Given the description of an element on the screen output the (x, y) to click on. 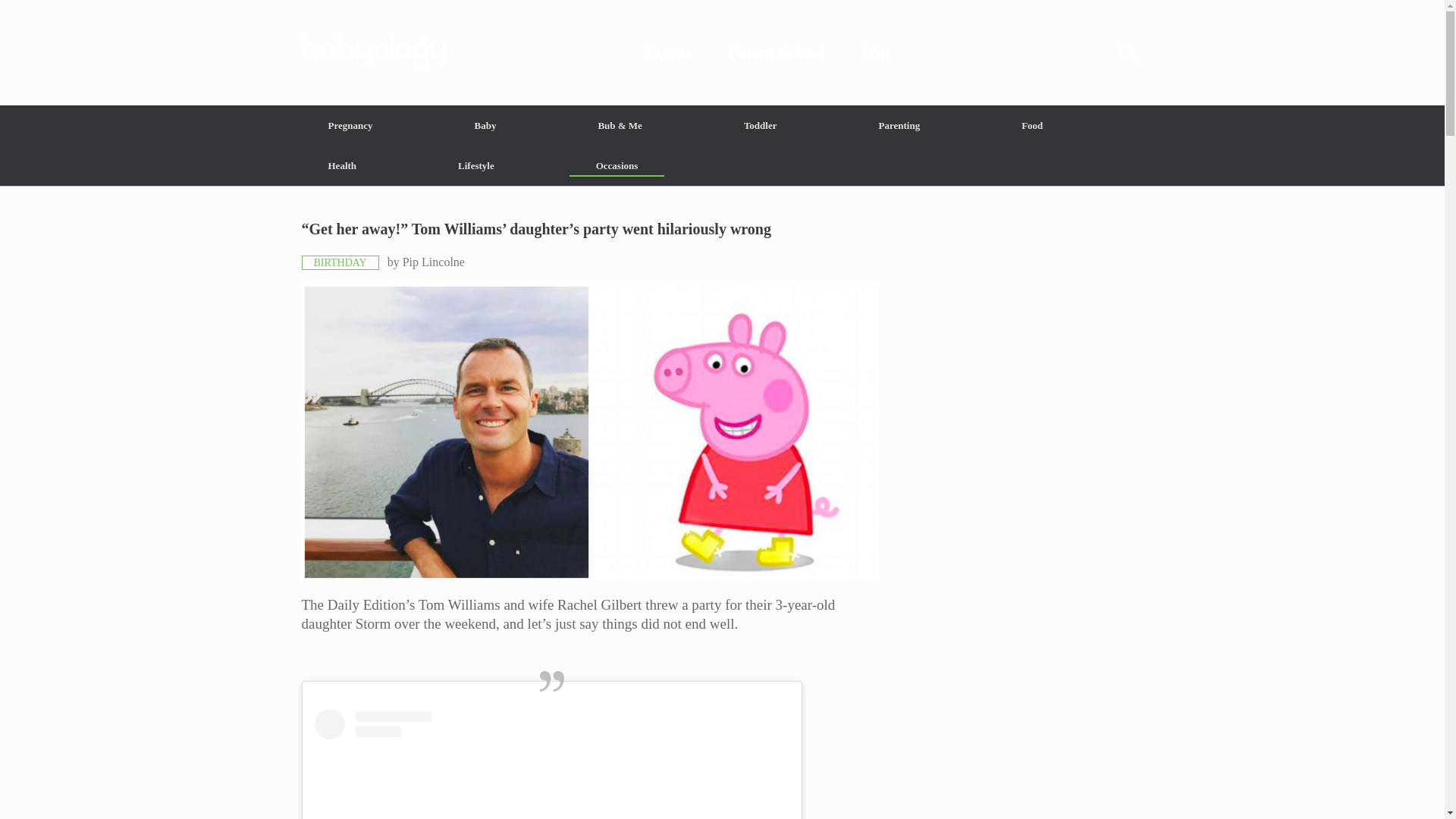
Food (1031, 125)
Lifestyle (475, 165)
Babyology (721, 52)
Events (669, 52)
Occasions (617, 165)
Pregnancy (349, 125)
Parent School (776, 52)
Toddler (760, 125)
View all posts by Pip Lincolne (433, 261)
Parenting (898, 125)
BIRTHDAY (339, 262)
Health (342, 165)
View this post on Instagram (551, 764)
Pip Lincolne (433, 261)
Baby (484, 125)
